Given the description of an element on the screen output the (x, y) to click on. 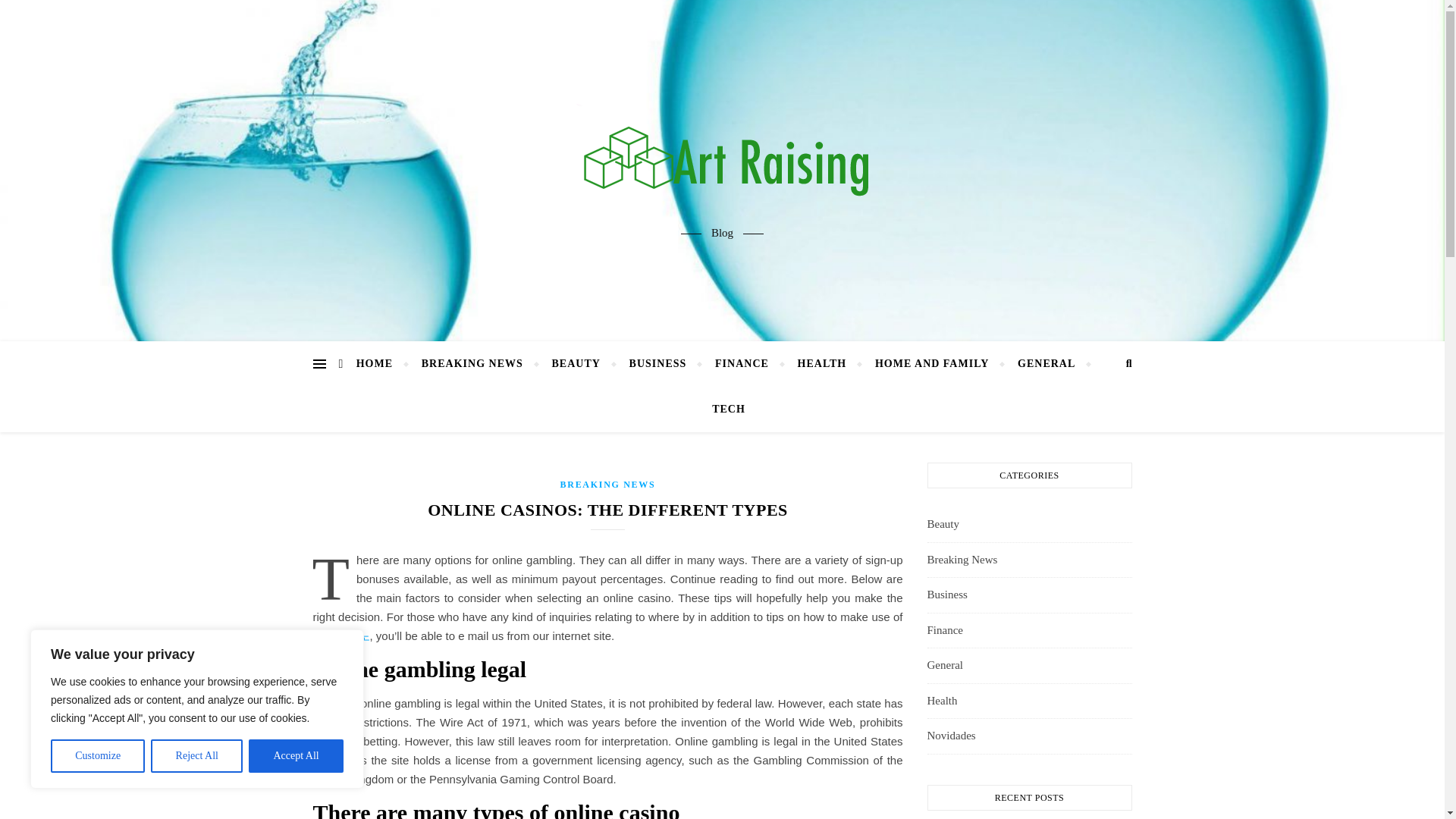
HEALTH (822, 363)
BEAUTY (575, 363)
Art Raising (721, 157)
Accept All (295, 756)
FINANCE (741, 363)
Reject All (197, 756)
HOME (381, 363)
TECH (721, 409)
GENERAL (1045, 363)
BREAKING NEWS (472, 363)
BUSINESS (657, 363)
Customize (97, 756)
HOME AND FAMILY (931, 363)
BREAKING NEWS (608, 484)
